Given the description of an element on the screen output the (x, y) to click on. 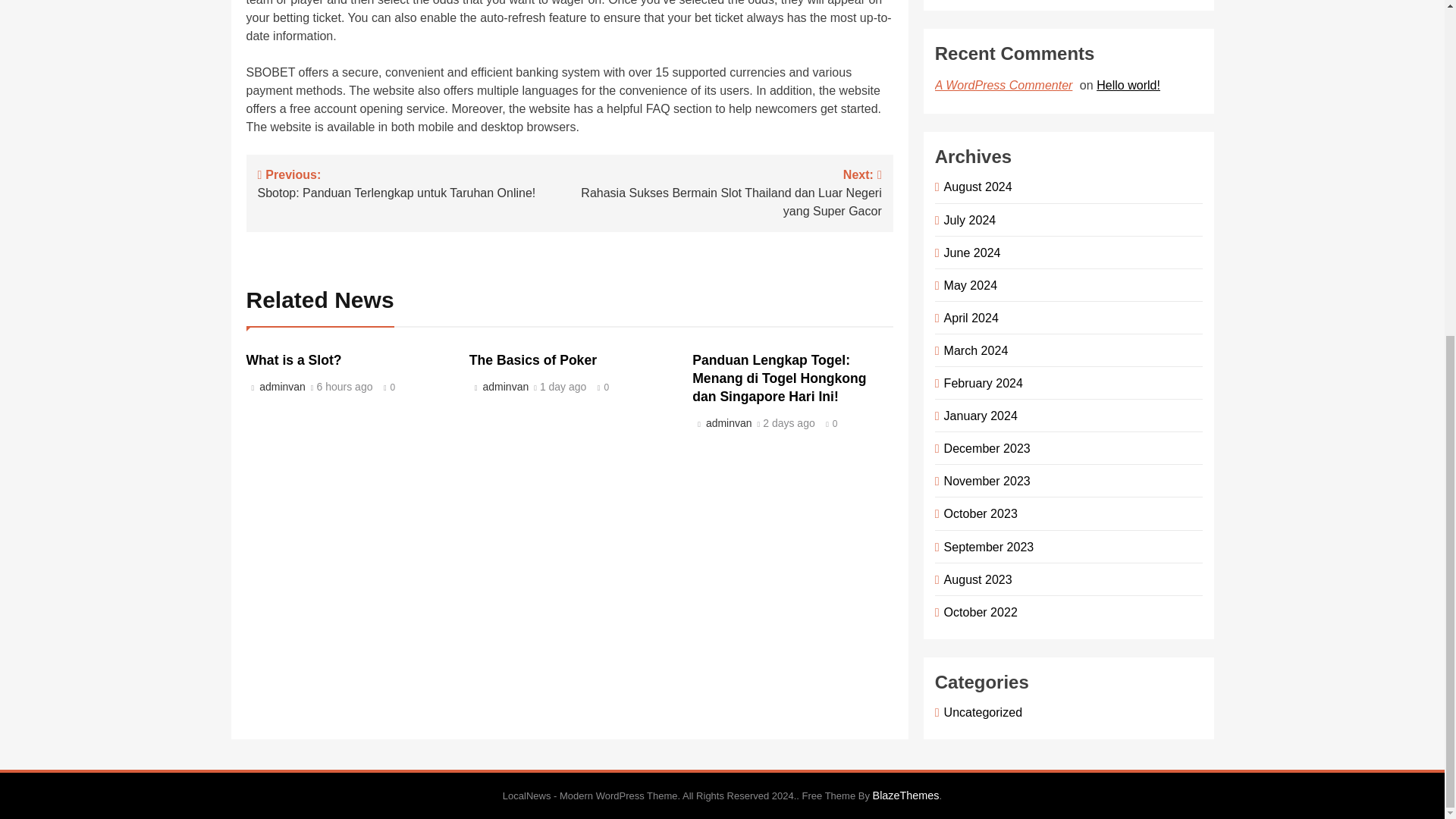
August 2024 (975, 186)
adminvan (279, 386)
1 day ago (563, 387)
June 2024 (413, 182)
adminvan (969, 252)
What is a Slot? (503, 386)
The Basics of Poker (293, 359)
Hello world! (532, 359)
